Given the description of an element on the screen output the (x, y) to click on. 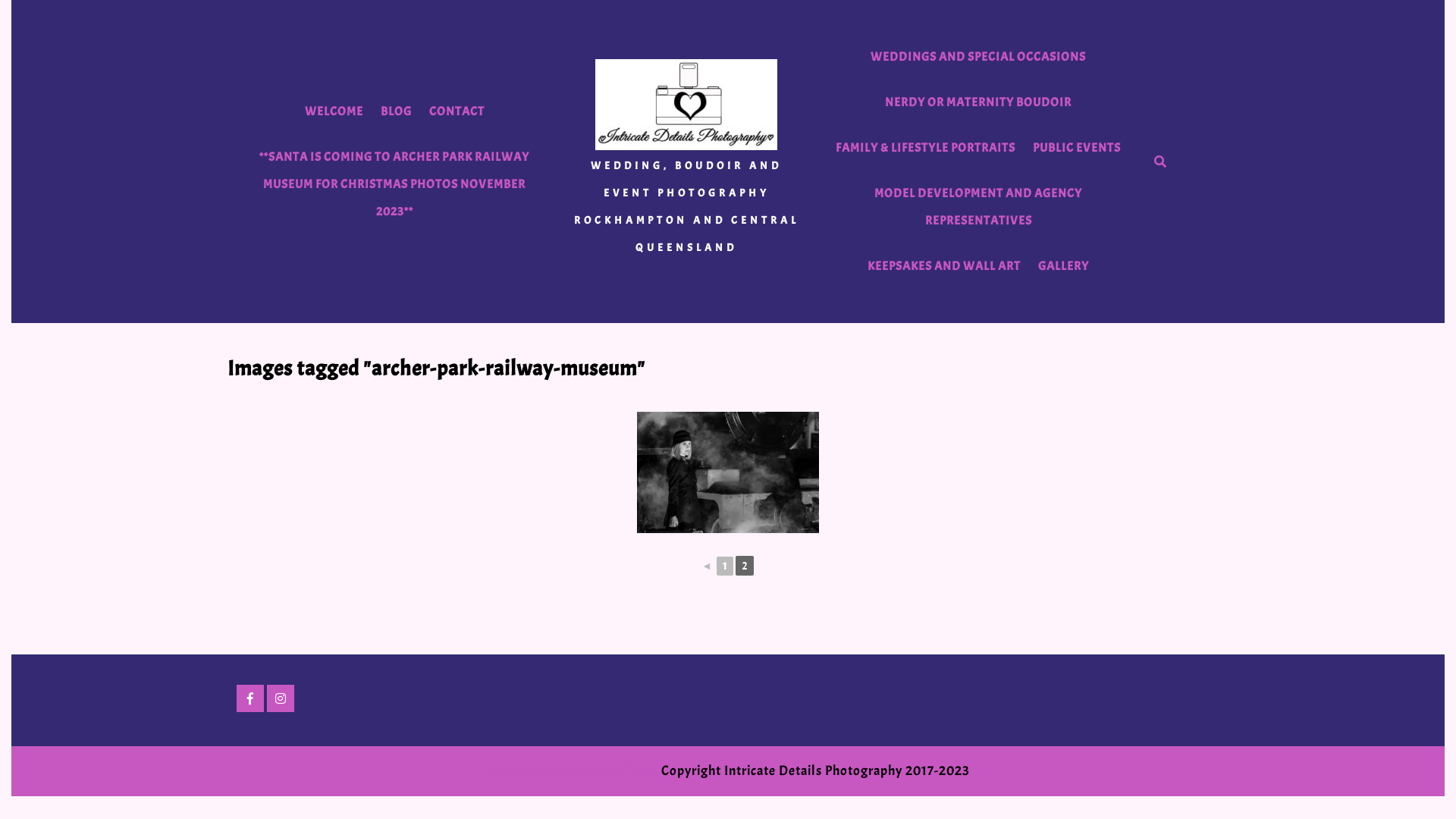
NERDY OR MATERNITY BOUDOIR Element type: text (978, 102)
Film Noir, Archer Park Railway Museum Element type: hover (728, 472)
BLOG Element type: text (396, 111)
Facebook Element type: text (249, 698)
WEDDINGS AND SPECIAL OCCASIONS Element type: text (977, 56)
WELCOME Element type: text (333, 111)
Photography WordPress Theme Element type: text (572, 770)
CONTACT Element type: text (456, 111)
FAMILY & LIFESTYLE PORTRAITS Element type: text (925, 147)
GALLERY Element type: text (1063, 265)
MODEL DEVELOPMENT AND AGENCY REPRESENTATIVES Element type: text (978, 206)
1 Element type: text (724, 565)
PUBLIC EVENTS Element type: text (1076, 147)
Instagram Element type: text (280, 698)
KEEPSAKES AND WALL ART Element type: text (943, 265)
